Given the description of an element on the screen output the (x, y) to click on. 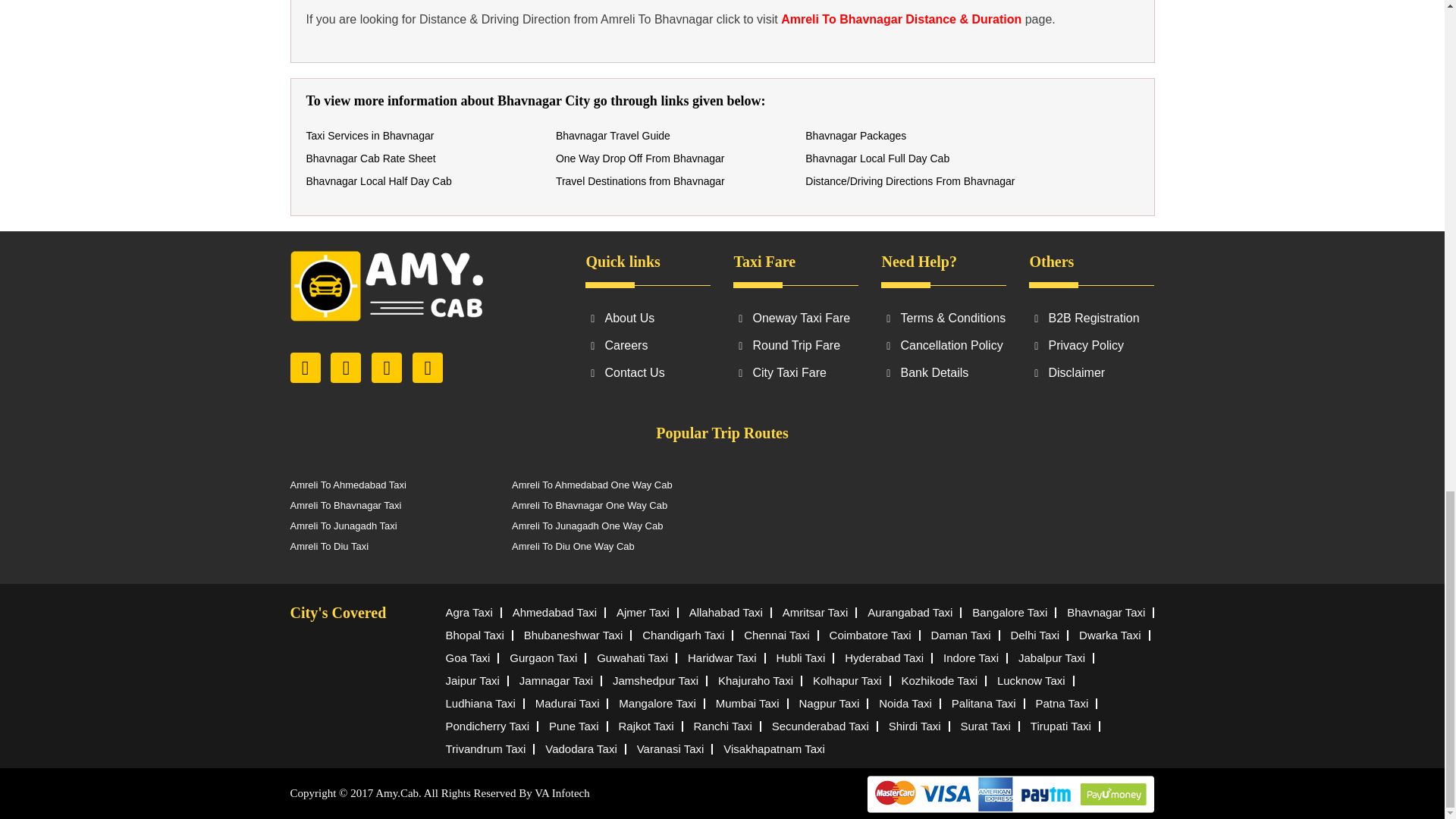
Taxi Services in Bhavnagar (369, 135)
Travel Destinations from Bhavnagar (640, 181)
Bhavnagar Cab Rate Sheet (370, 158)
Bhavnagar Local Full Day Cab (877, 158)
Bhavnagar Travel Guide (612, 135)
Bhavnagar Packages (855, 135)
One Way Drop Off From Bhavnagar (640, 158)
Bhavnagar Local Half Day Cab (378, 181)
